Given the description of an element on the screen output the (x, y) to click on. 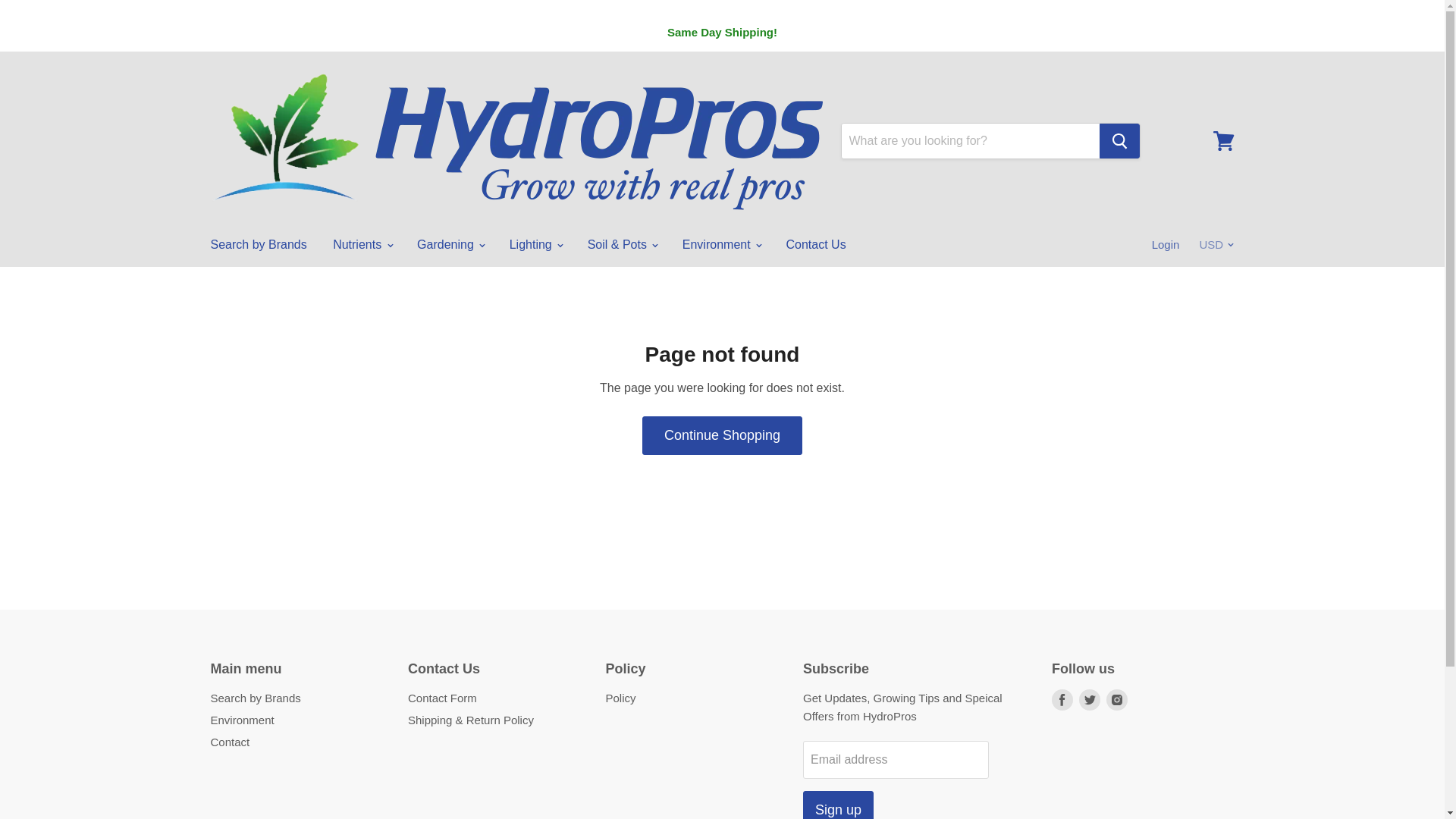
Contact Us (815, 245)
Lighting (535, 245)
View cart (1223, 140)
Facebook (1061, 699)
Twitter (1089, 699)
Instagram (1117, 699)
Gardening (450, 245)
Environment (721, 245)
Login (1165, 245)
Nutrients (361, 245)
